Given the description of an element on the screen output the (x, y) to click on. 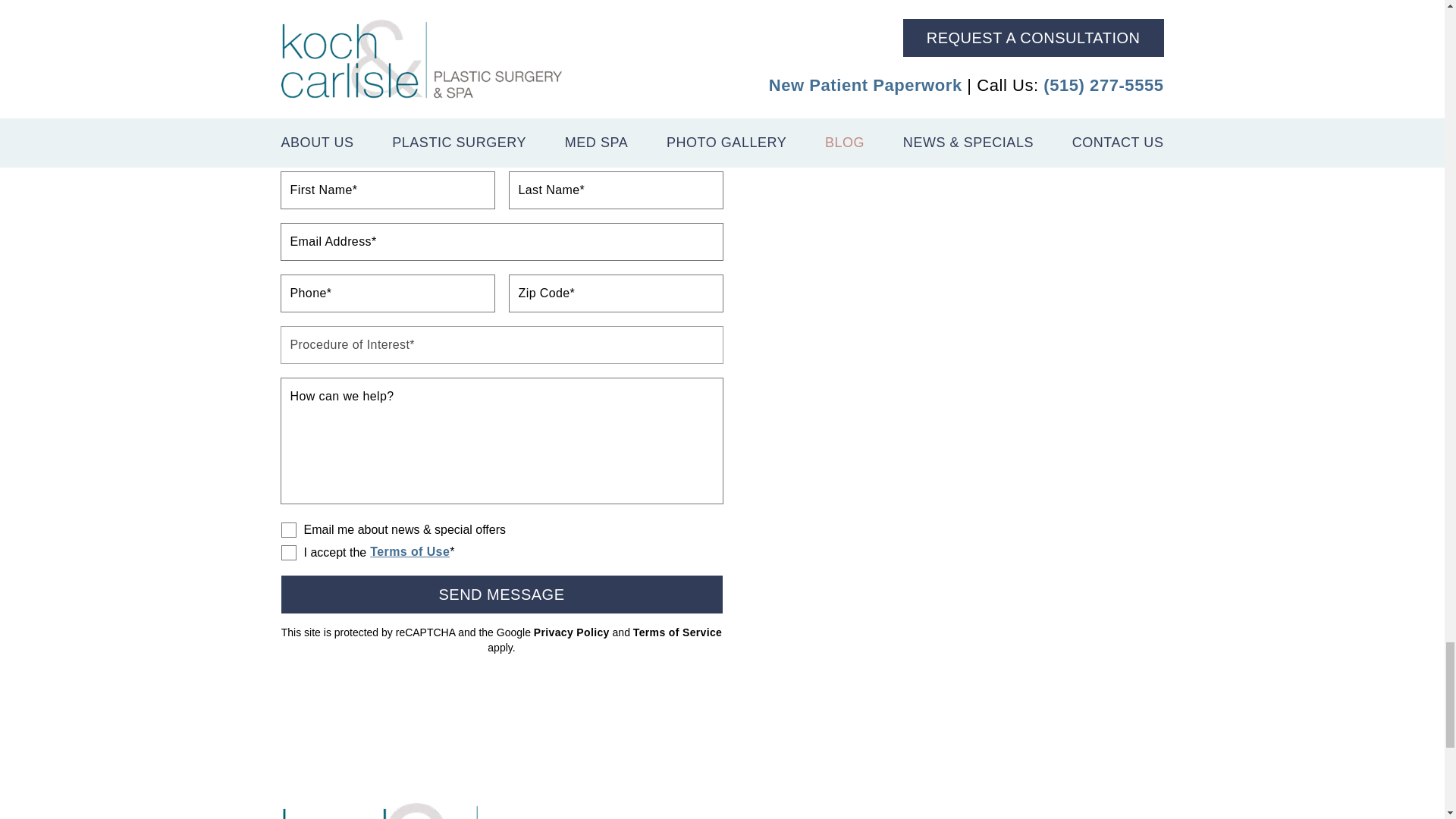
checked (288, 552)
checked (288, 529)
